Given the description of an element on the screen output the (x, y) to click on. 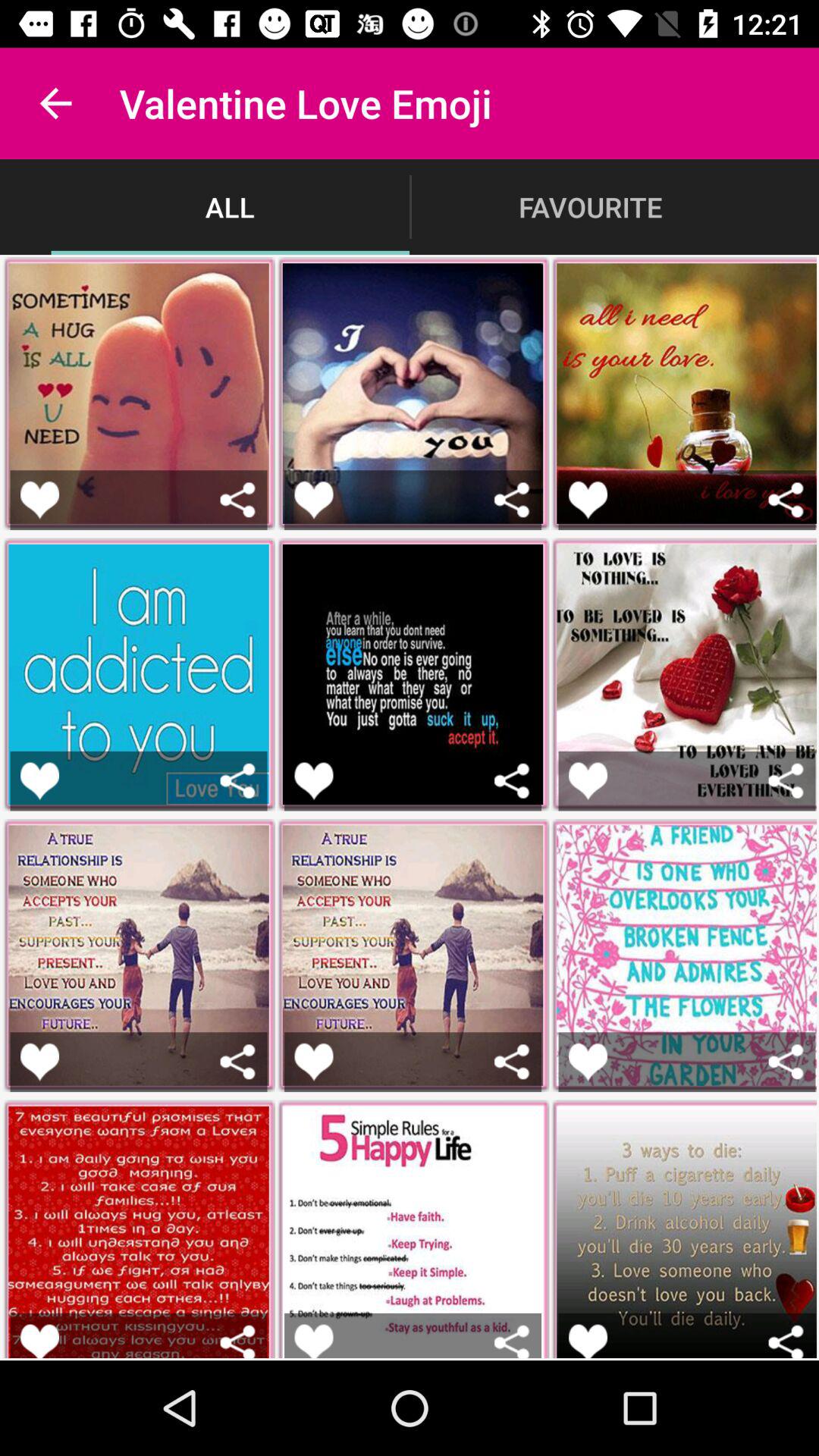
show appreciation (39, 1340)
